Given the description of an element on the screen output the (x, y) to click on. 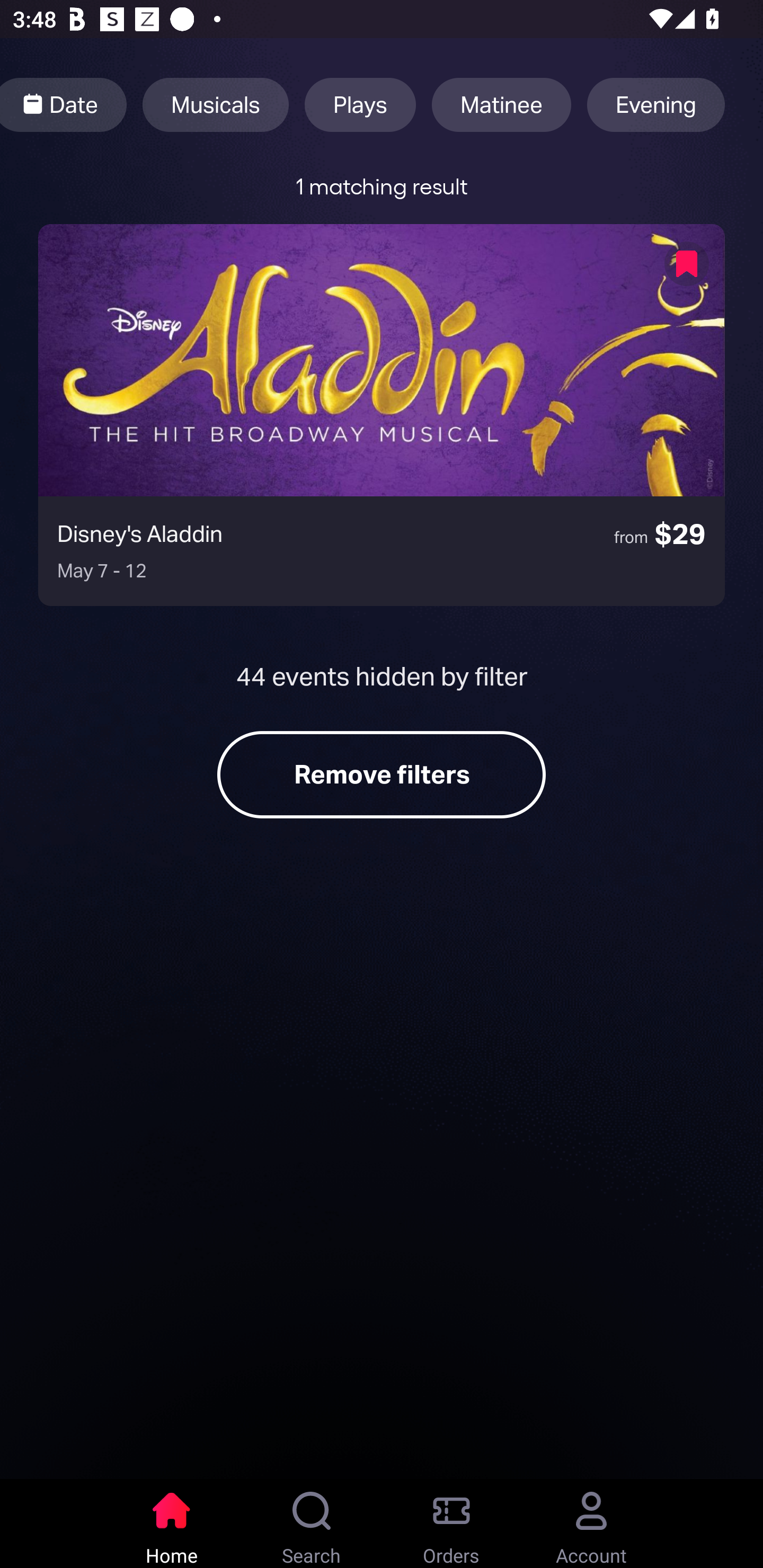
Date (63, 104)
Musicals (215, 104)
Plays (359, 104)
Matinee (501, 104)
Evening (655, 104)
Disney's Aladdin from $29 May 7 - 12 (381, 414)
Remove filters (381, 774)
Search (311, 1523)
Orders (451, 1523)
Account (591, 1523)
